Given the description of an element on the screen output the (x, y) to click on. 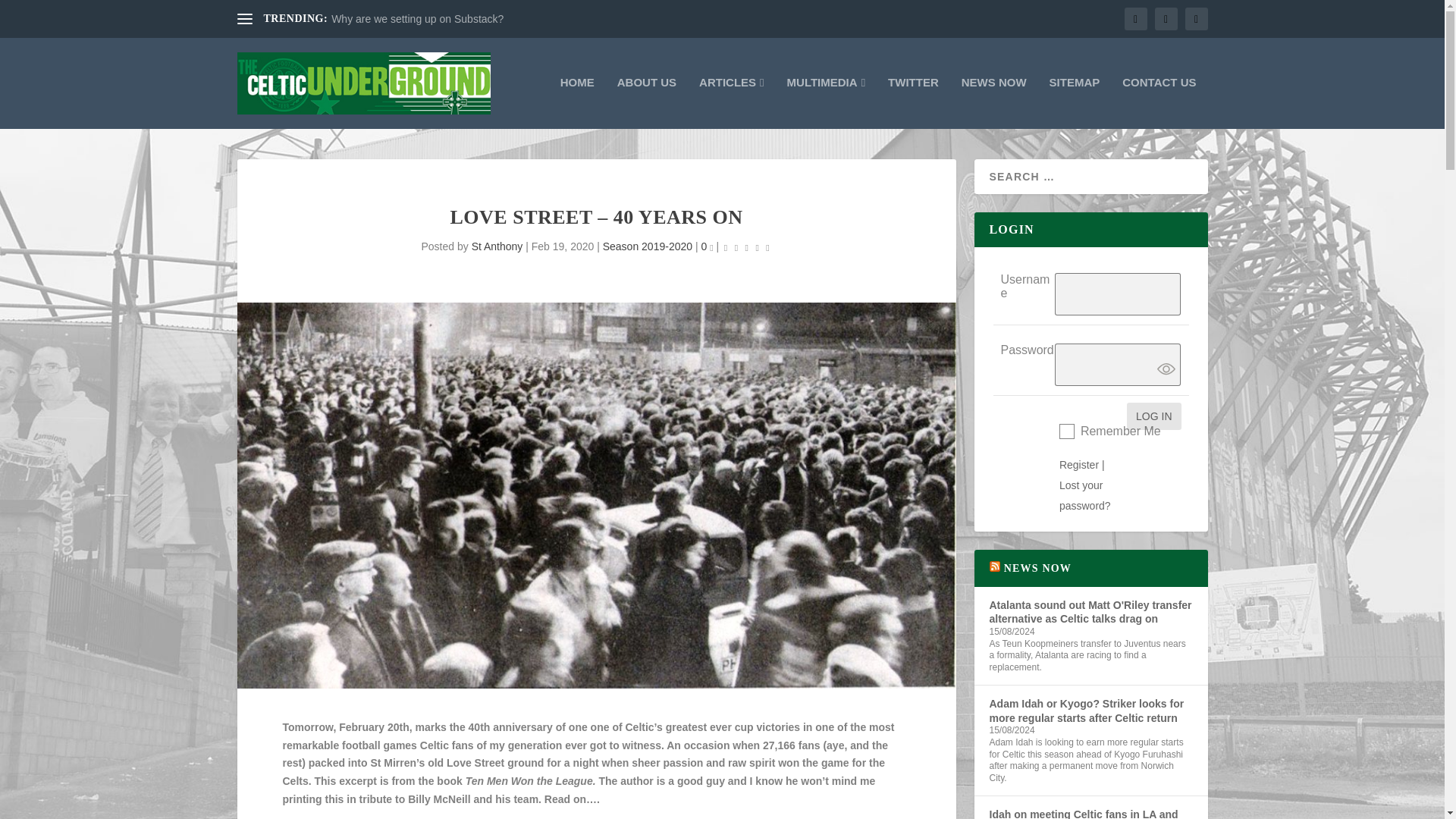
Log In (1153, 415)
Rating: 3.00 (746, 247)
Posts by St Anthony (496, 246)
Why are we setting up on Substack? (417, 19)
